Given the description of an element on the screen output the (x, y) to click on. 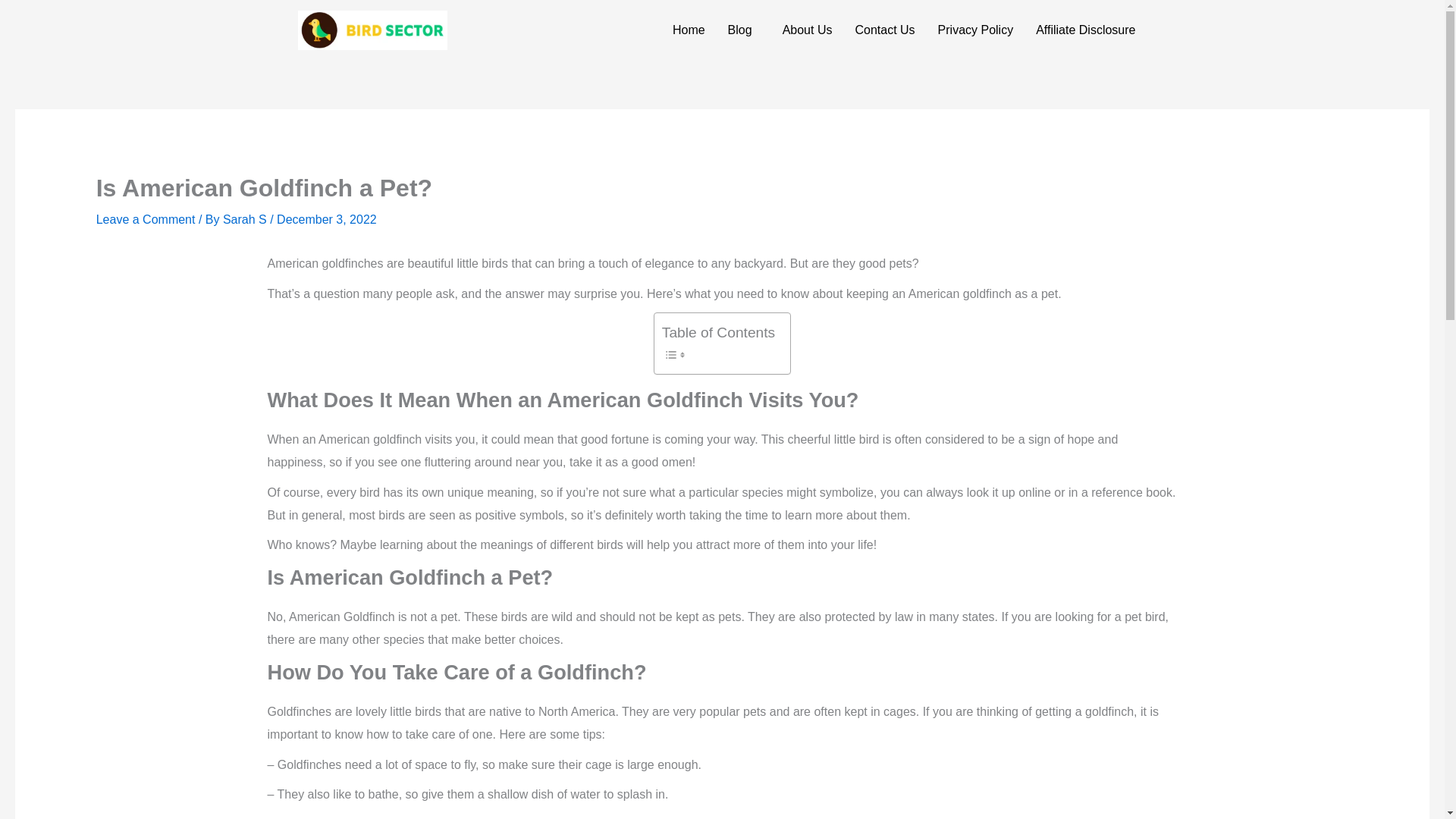
Contact Us (884, 30)
View all posts by Sarah S (245, 219)
About Us (807, 30)
Leave a Comment (145, 219)
Home (688, 30)
Privacy Policy (975, 30)
Sarah S (245, 219)
Blog (743, 30)
Affiliate Disclosure (1086, 30)
